Given the description of an element on the screen output the (x, y) to click on. 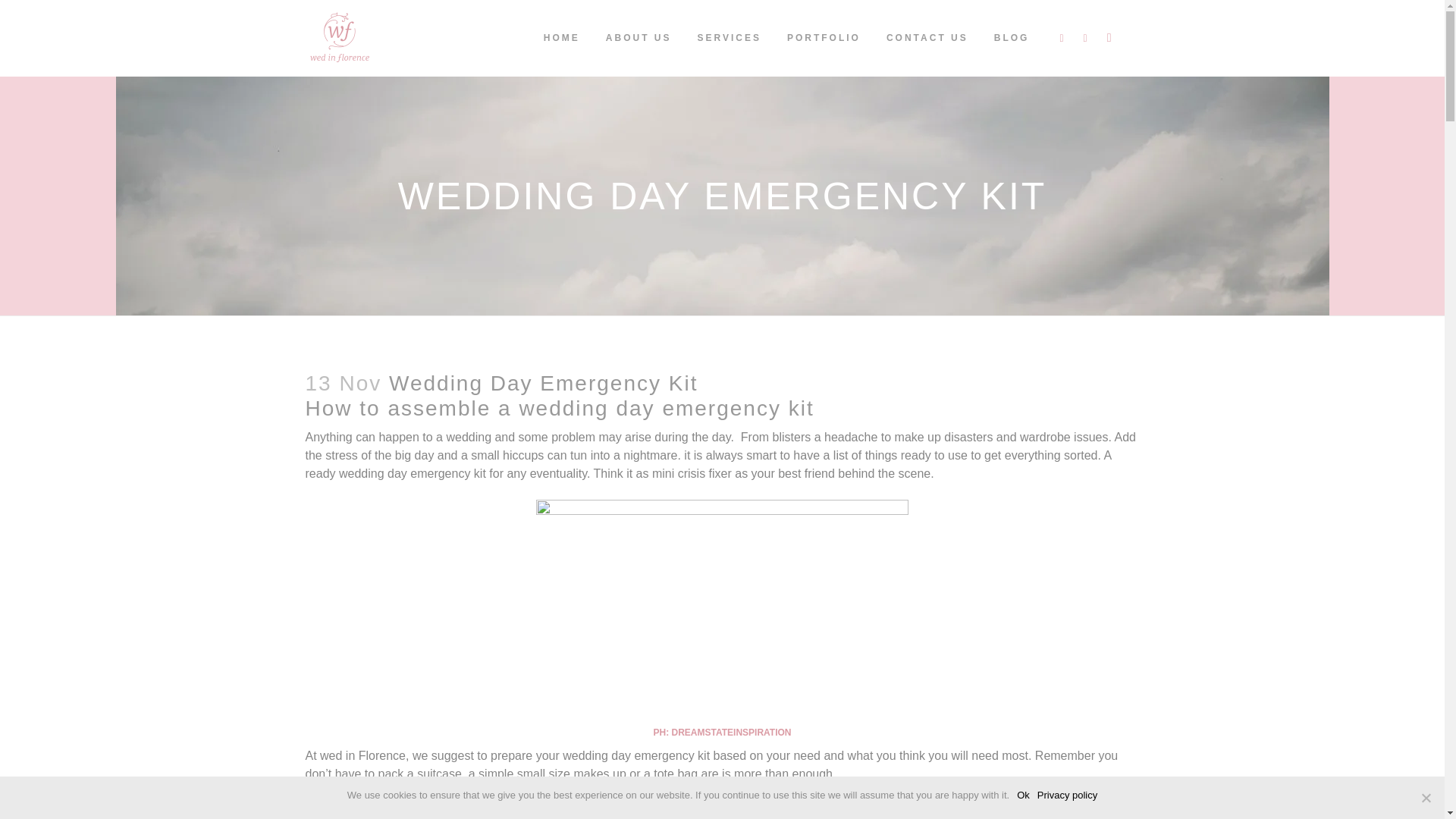
DREAMSTATEINSPIRATION (731, 732)
No (1425, 797)
CONTACT US (927, 38)
PORTFOLIO (823, 38)
SERVICES (728, 38)
ABOUT US (638, 38)
